Given the description of an element on the screen output the (x, y) to click on. 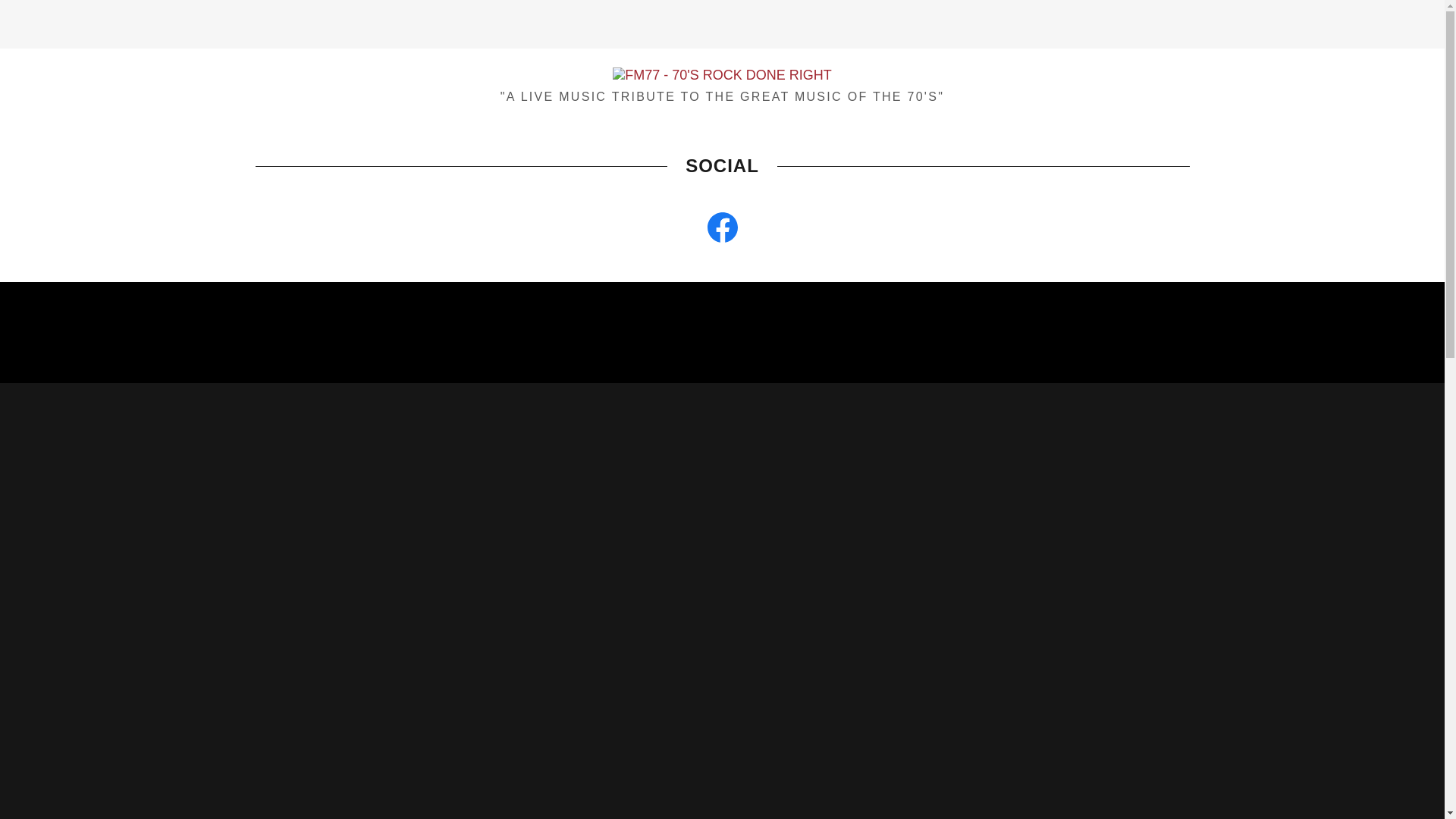
FM77 - 70'S ROCK DONE RIGHT (721, 73)
